Given the description of an element on the screen output the (x, y) to click on. 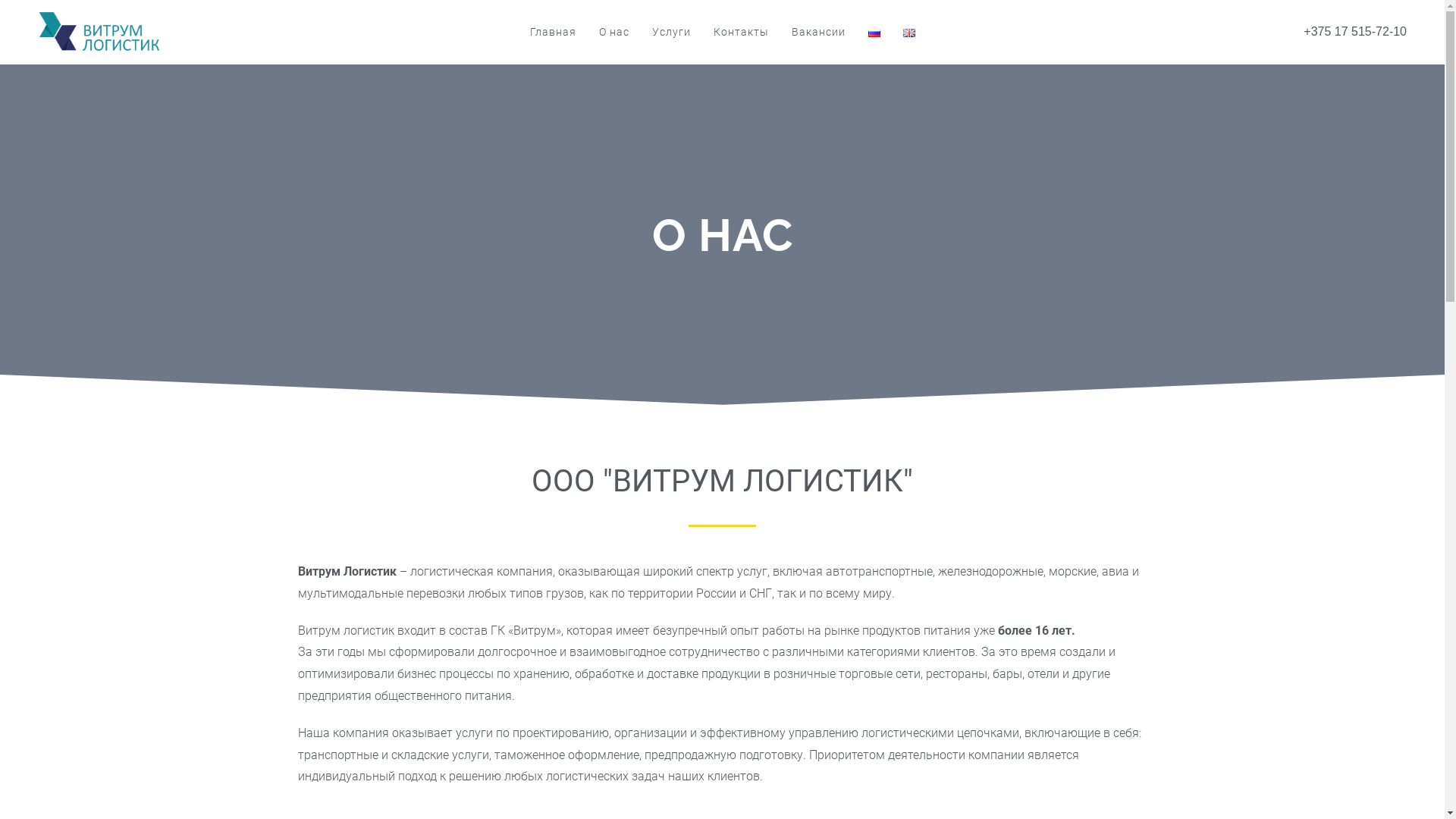
English Element type: hover (908, 32)
